Given the description of an element on the screen output the (x, y) to click on. 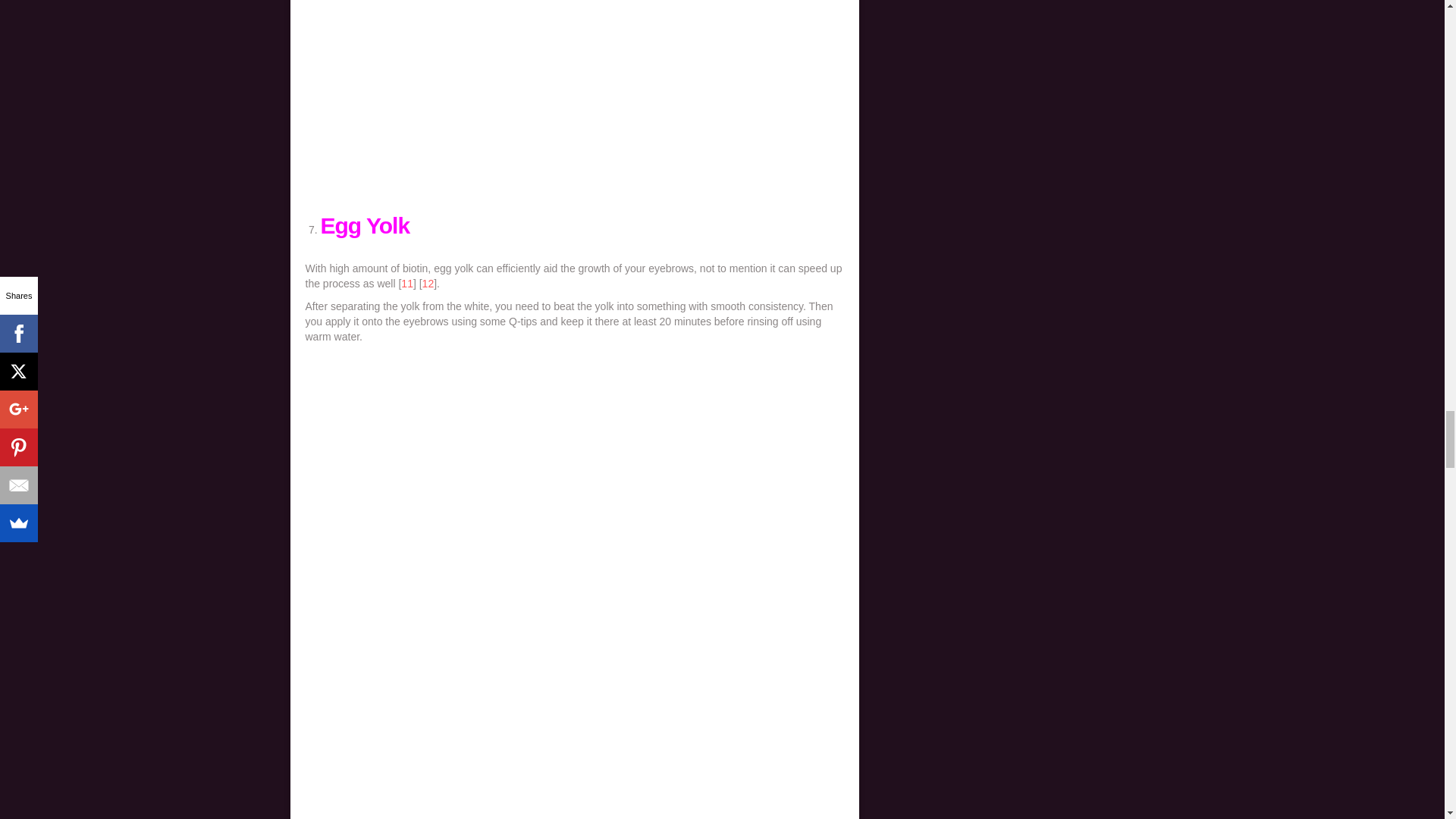
12 (427, 283)
11 (407, 283)
